Given the description of an element on the screen output the (x, y) to click on. 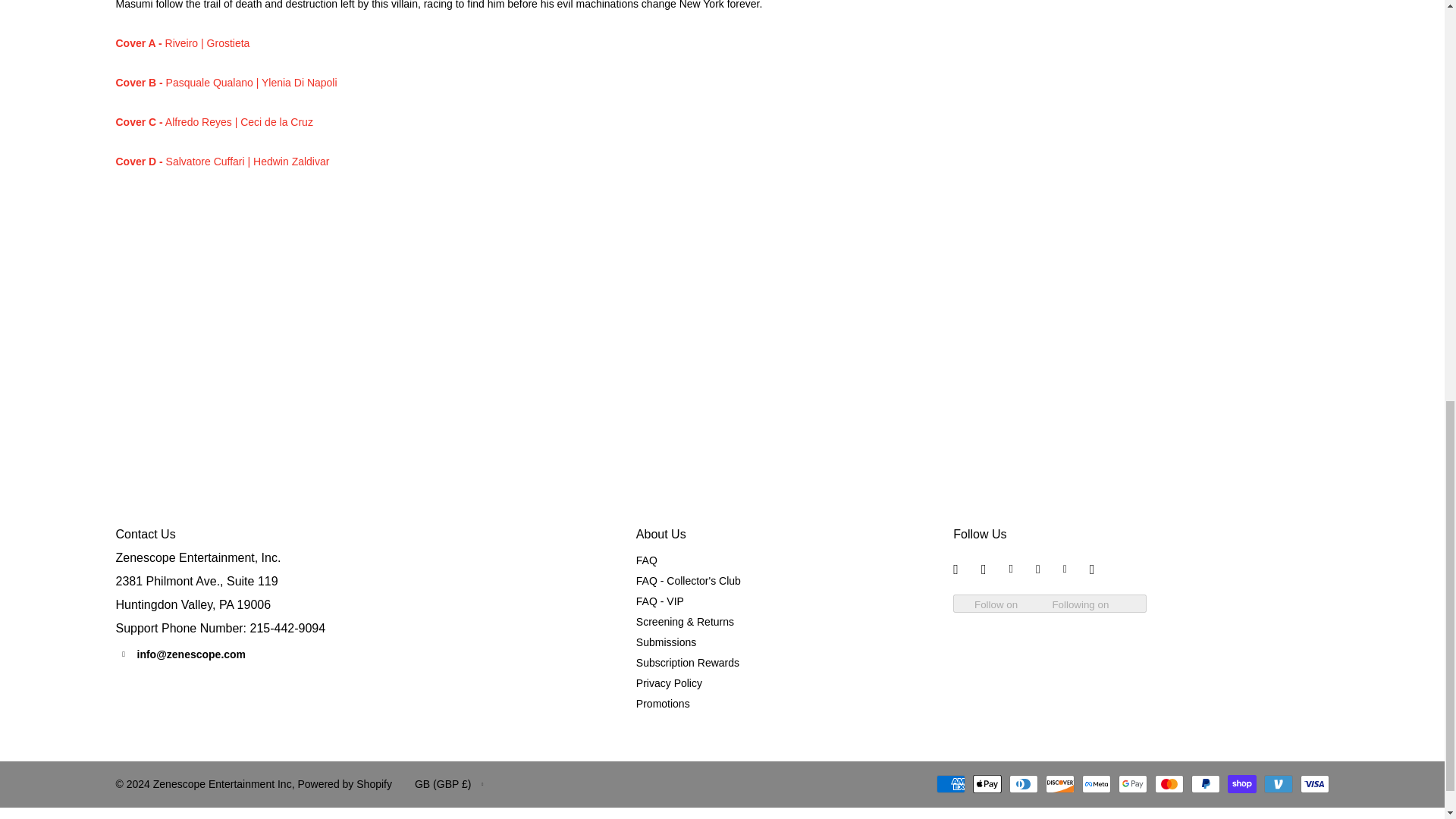
FAQ - Collector's Club (688, 580)
Subscription Rewards (687, 662)
PayPal (1205, 783)
Apple Pay (986, 783)
Mastercard (1168, 783)
Google Pay (1132, 783)
American Express (949, 783)
FAQ - VIP (660, 601)
Visa (1313, 783)
Submissions (665, 642)
